Given the description of an element on the screen output the (x, y) to click on. 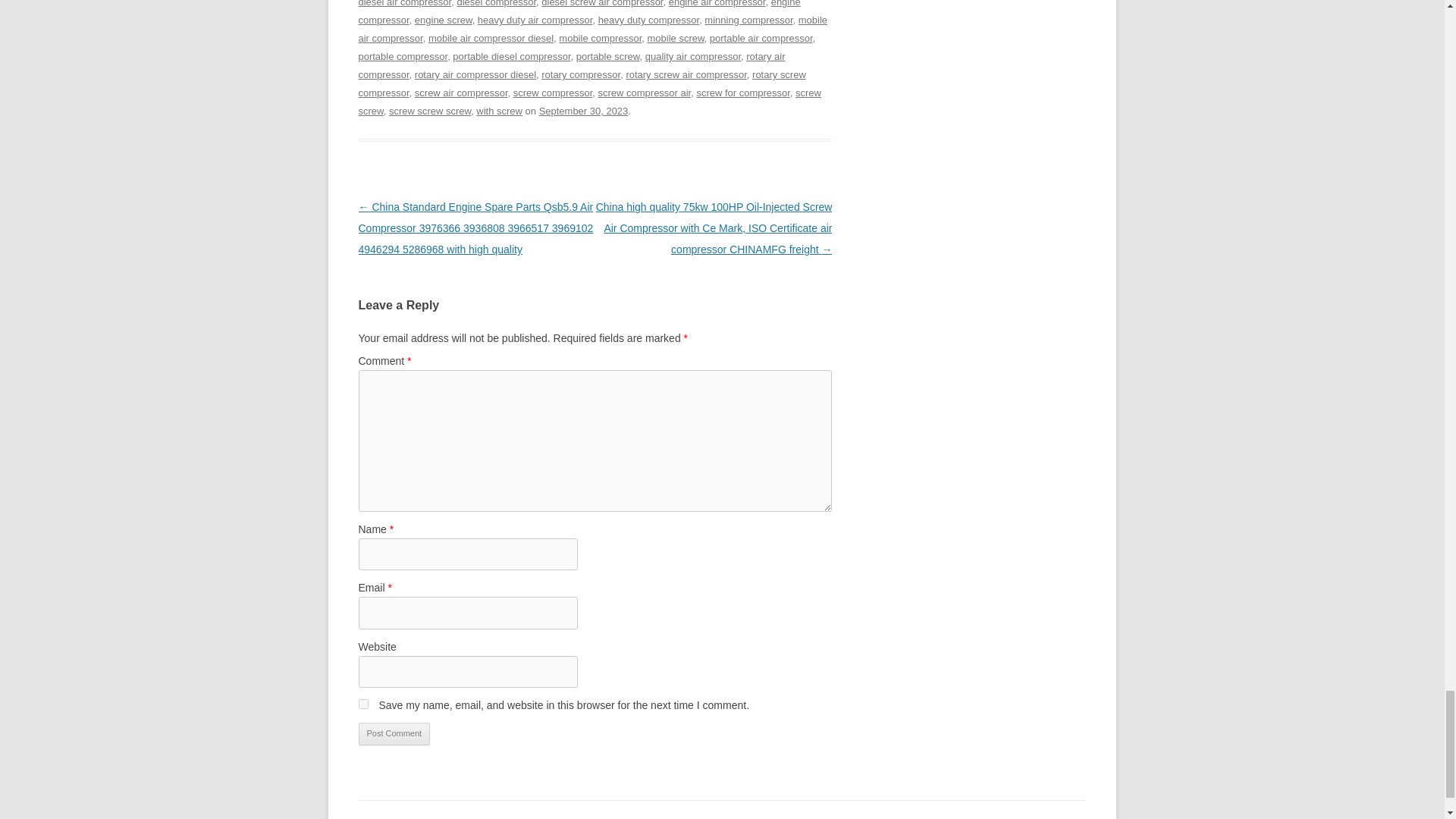
engine air compressor (716, 3)
engine compressor (578, 12)
heavy duty air compressor (534, 19)
engine screw (442, 19)
diesel screw air compressor (601, 3)
8:01 am (583, 111)
diesel compressor (496, 3)
yes (363, 704)
Post Comment (393, 733)
diesel air compressor (404, 3)
